Given the description of an element on the screen output the (x, y) to click on. 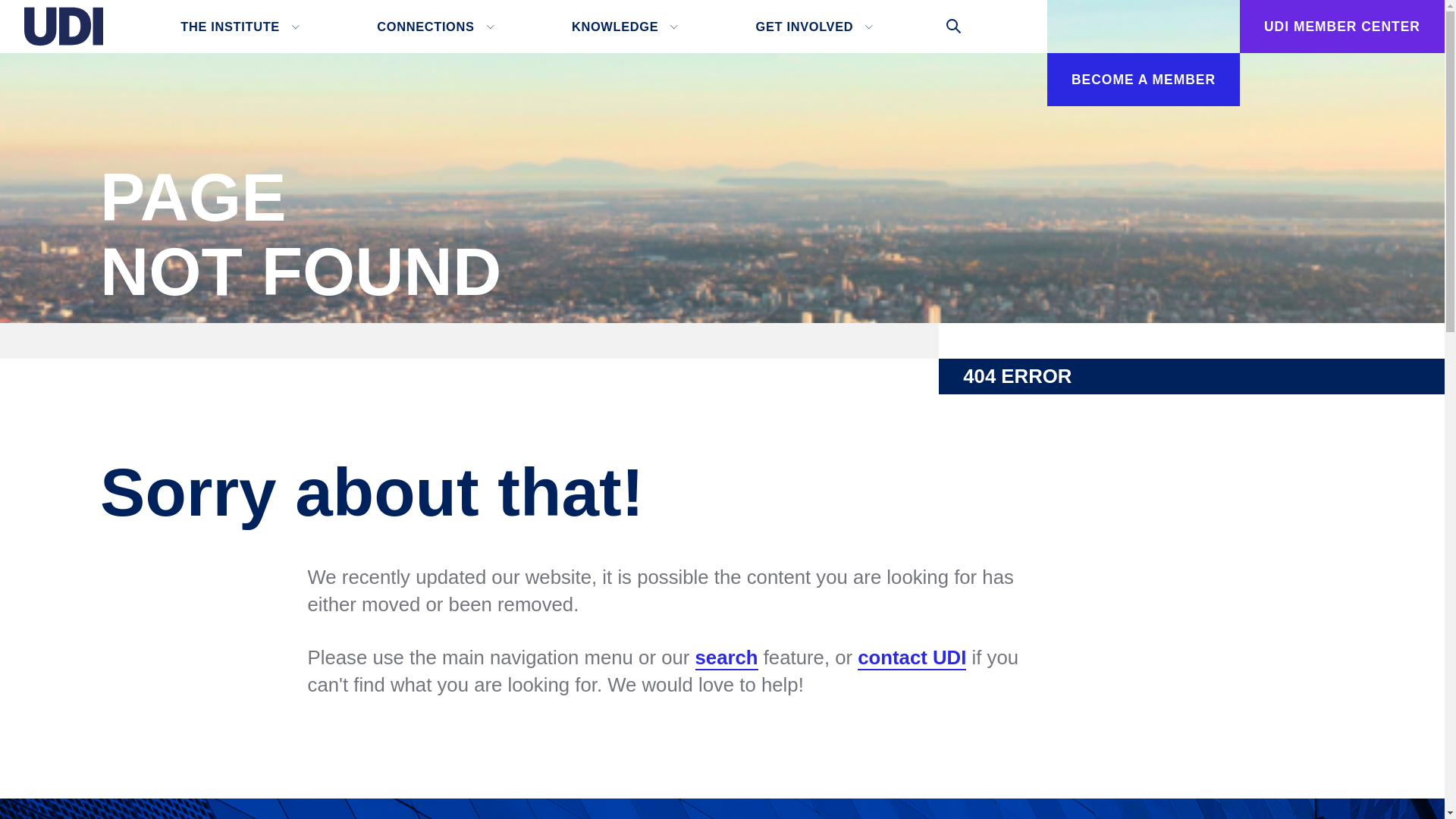
CONNECTIONS Element type: text (432, 26)
BECOME A MEMBER Element type: text (1143, 79)
UDI MEMBER CENTER Element type: text (1341, 26)
GET INVOLVED Element type: text (811, 26)
contact UDI Element type: text (911, 658)
KNOWLEDGE Element type: text (622, 26)
THE INSTITUTE Element type: text (237, 26)
search Element type: text (726, 658)
